Given the description of an element on the screen output the (x, y) to click on. 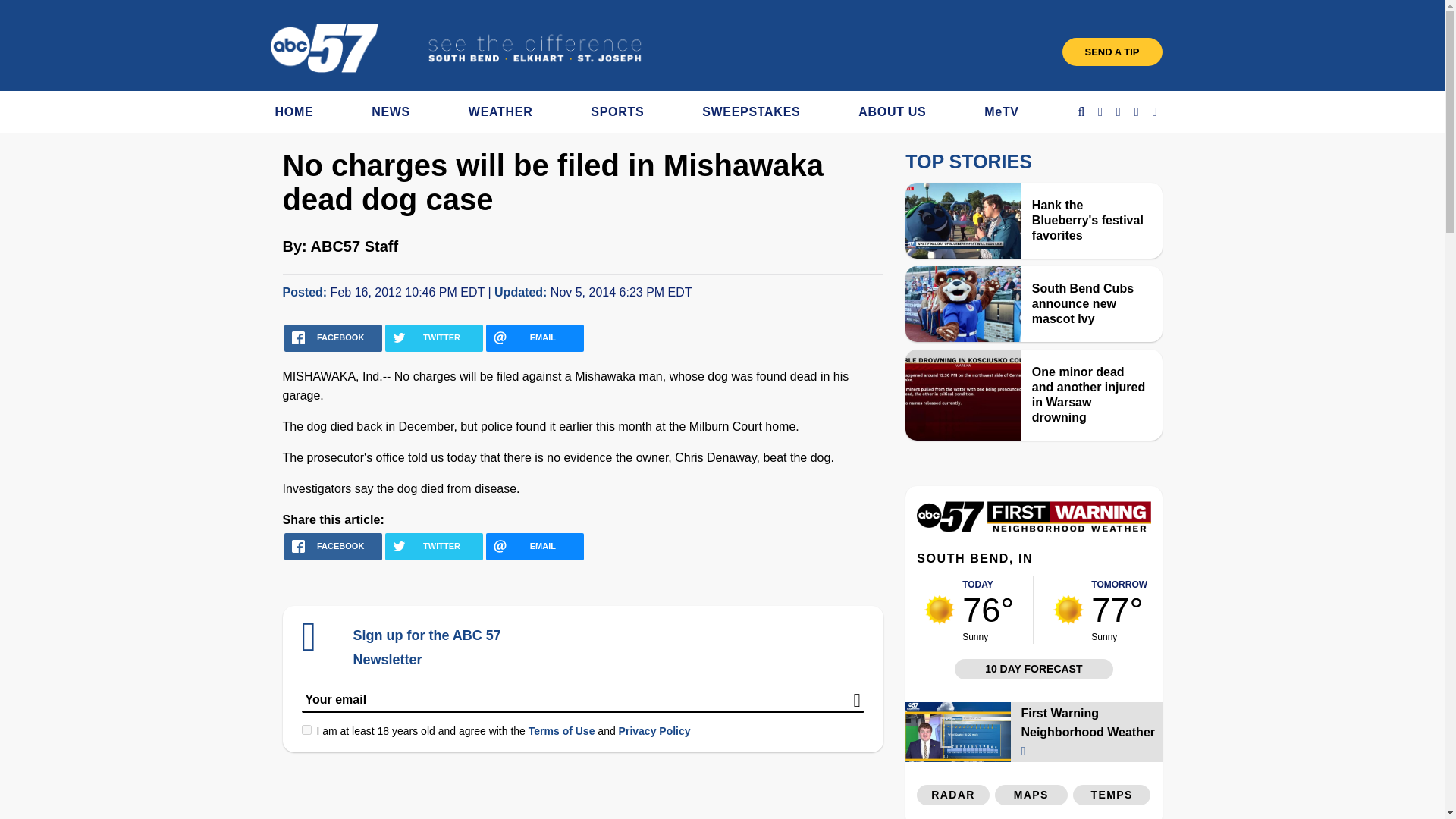
weather (939, 609)
Weather (1033, 527)
on (306, 729)
weather (1067, 609)
